Given the description of an element on the screen output the (x, y) to click on. 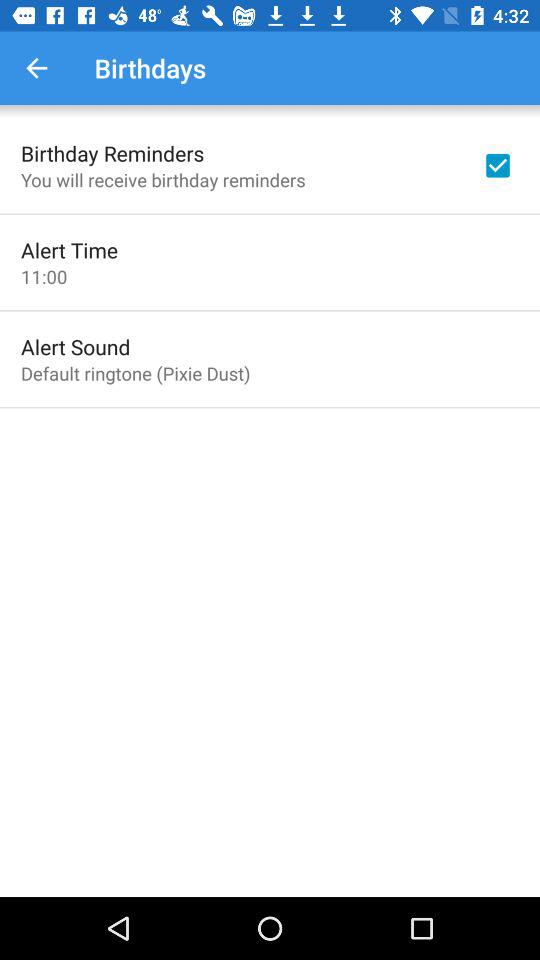
press alert time item (69, 249)
